Given the description of an element on the screen output the (x, y) to click on. 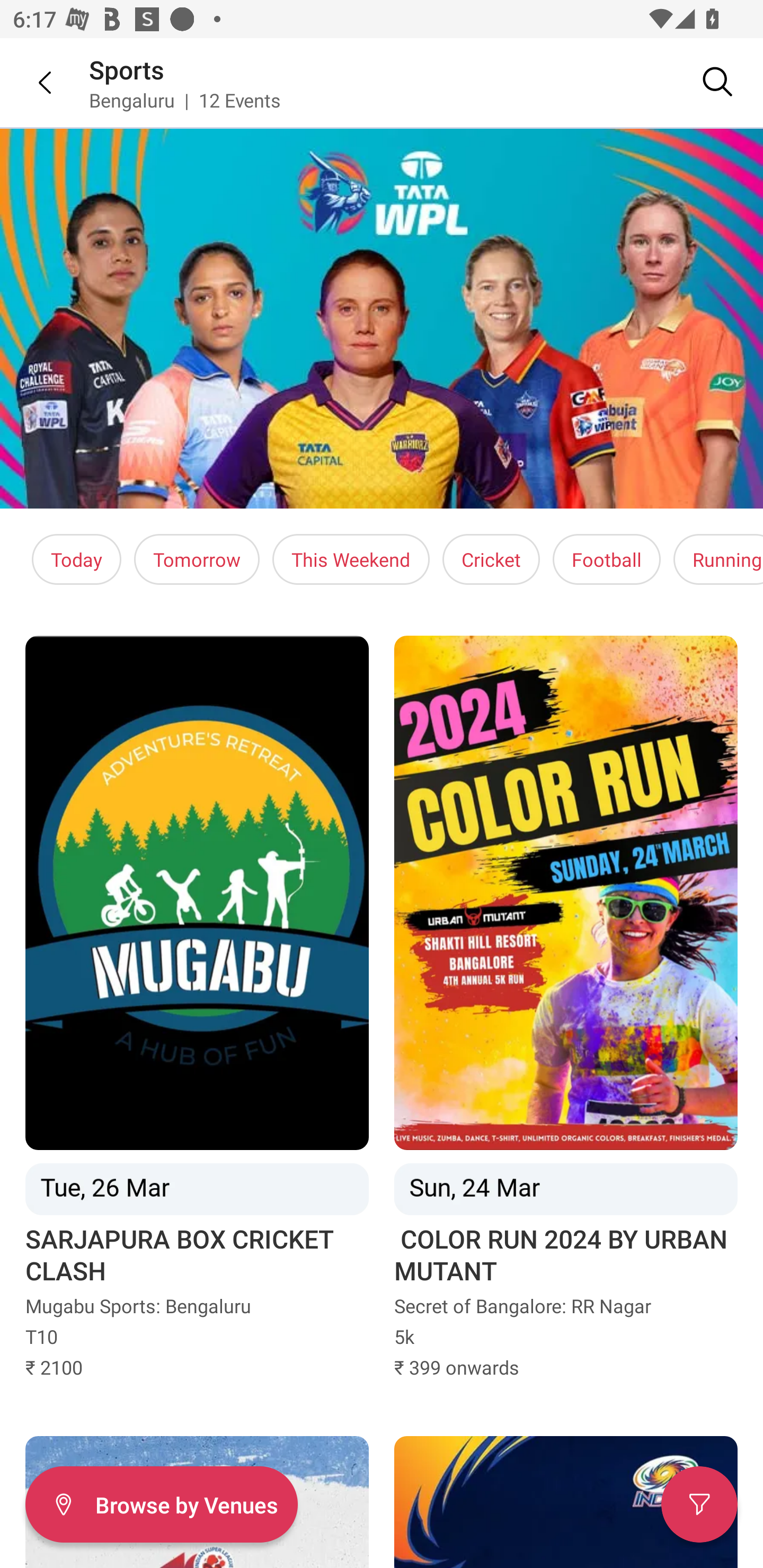
Back (31, 82)
Sports (126, 68)
Bengaluru  |  12 Events (185, 99)
Today (76, 559)
Tomorrow (196, 559)
This Weekend (350, 559)
Cricket (491, 559)
Football (606, 559)
Running (718, 559)
Filter Browse by Venues (161, 1504)
Filter (699, 1504)
